Given the description of an element on the screen output the (x, y) to click on. 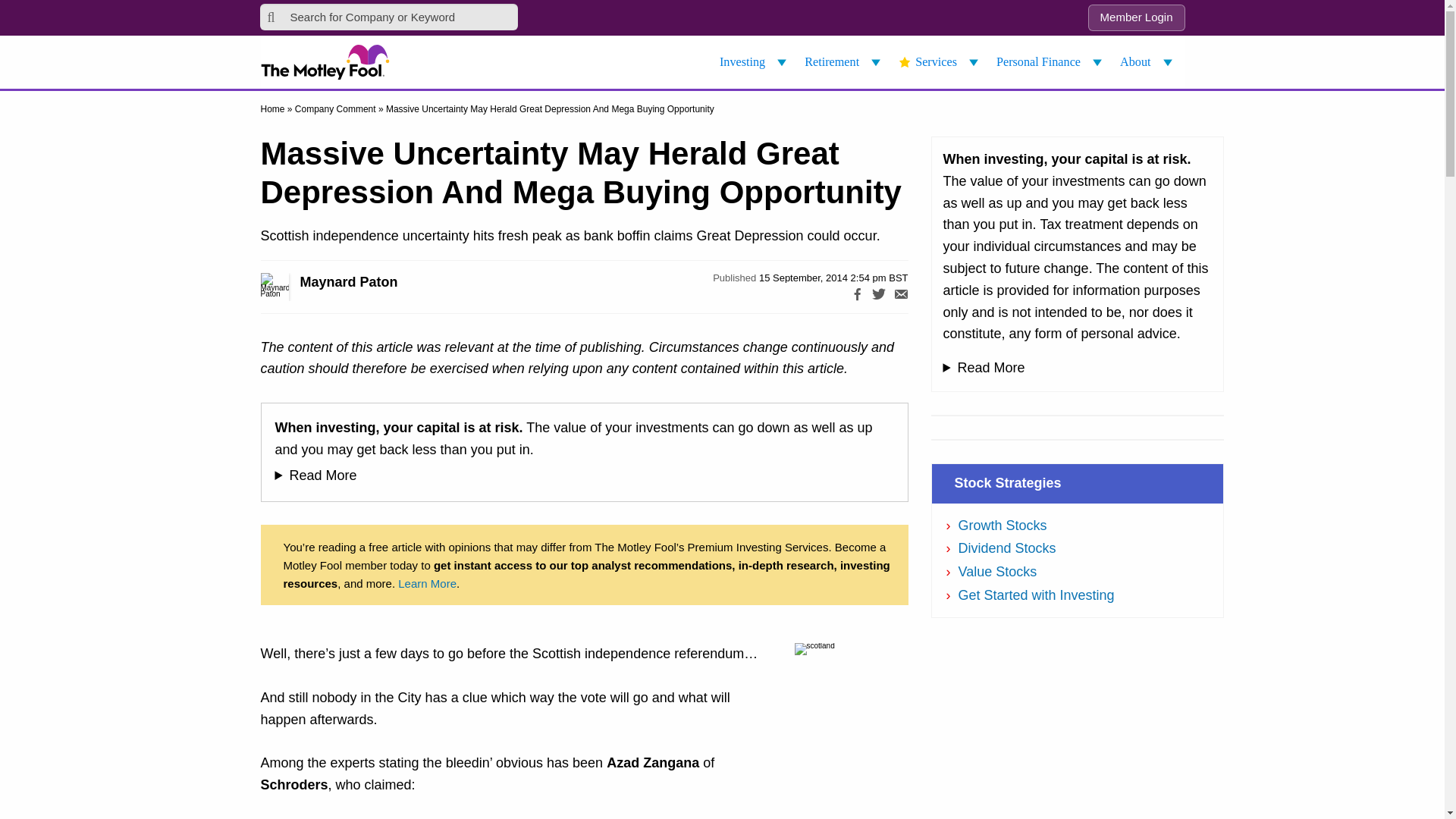
Services (941, 62)
Maynard Paton (290, 286)
Investing (755, 62)
Member Login (1136, 17)
Retirement (844, 62)
